Given the description of an element on the screen output the (x, y) to click on. 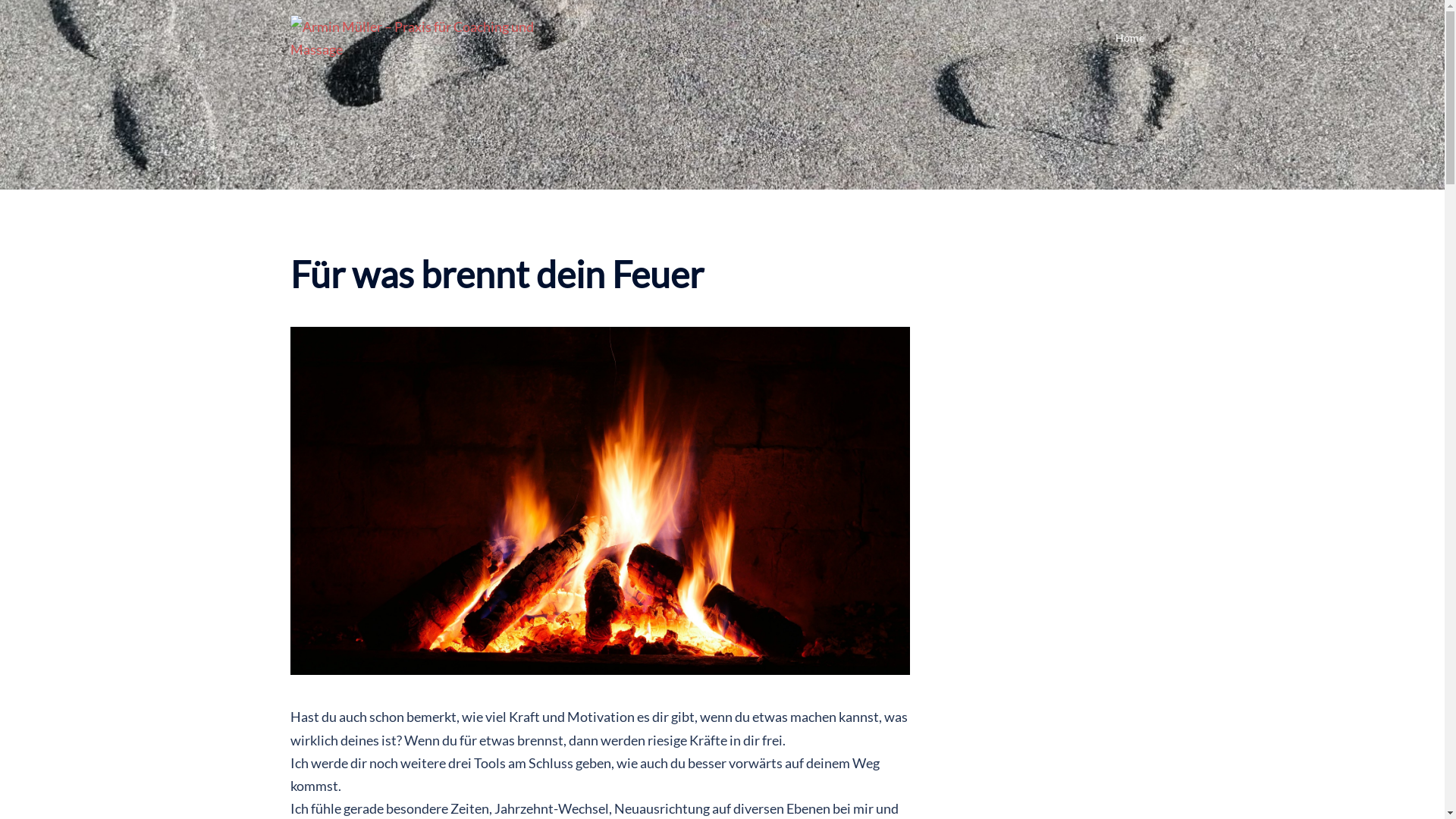
Home Element type: text (1128, 37)
